Given the description of an element on the screen output the (x, y) to click on. 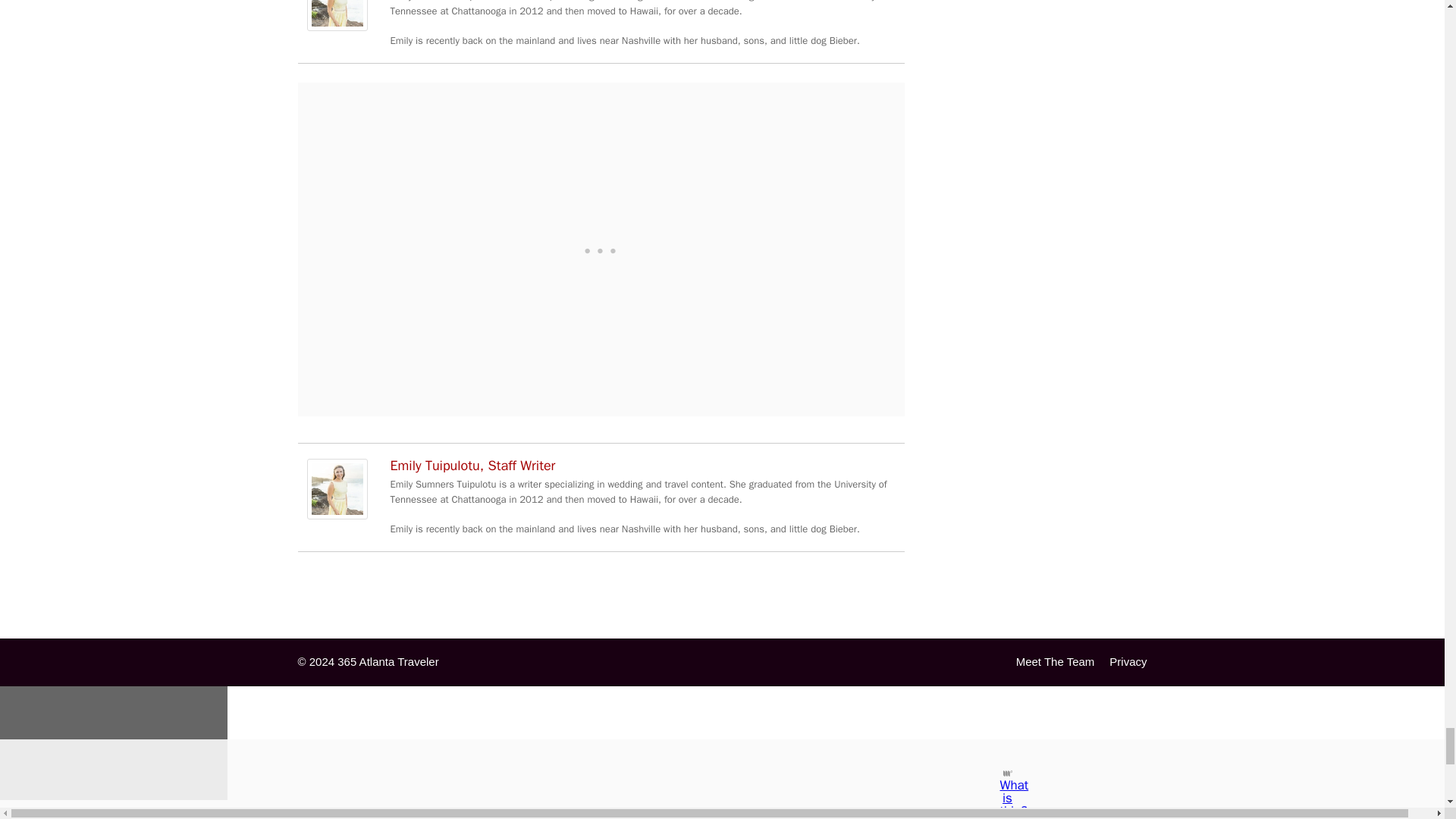
Emily Tuipulotu, Staff Writer (335, 26)
Emily Tuipulotu, Staff Writer (335, 514)
